Given the description of an element on the screen output the (x, y) to click on. 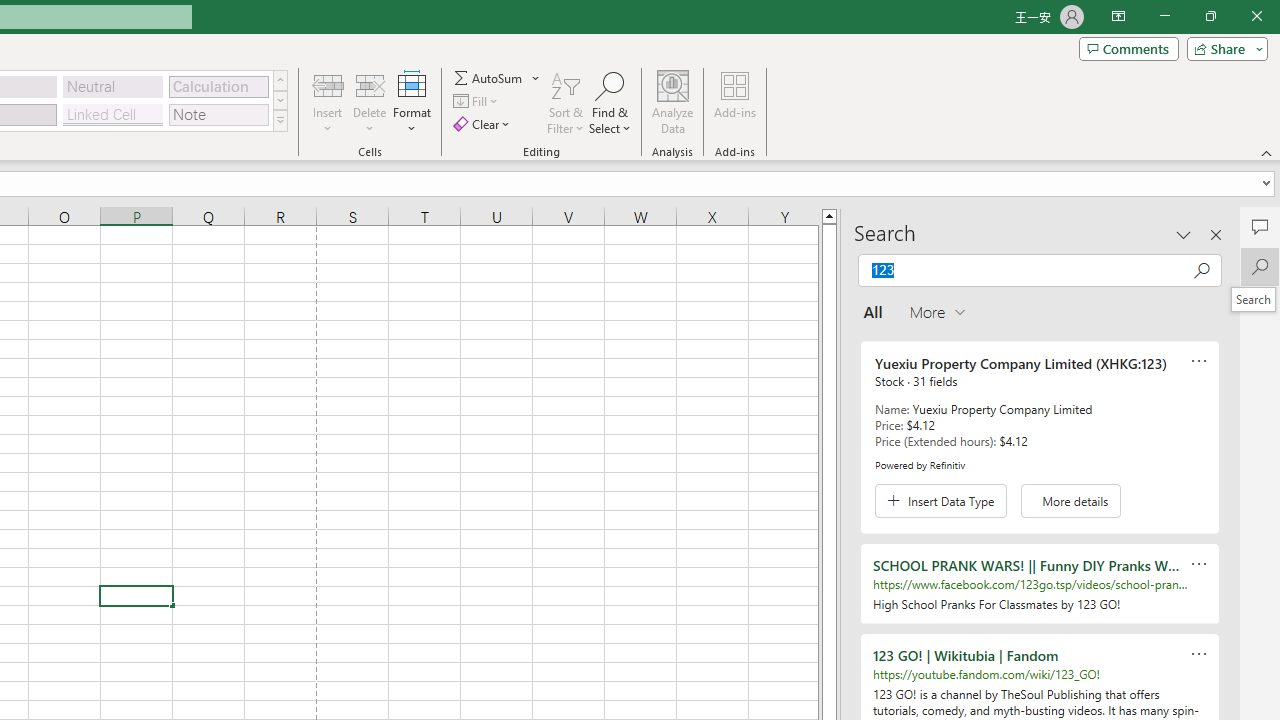
Delete Cells... (369, 84)
Linked Cell (113, 114)
Fill (477, 101)
Find & Select (610, 102)
AutoSum (497, 78)
Delete (369, 102)
